Given the description of an element on the screen output the (x, y) to click on. 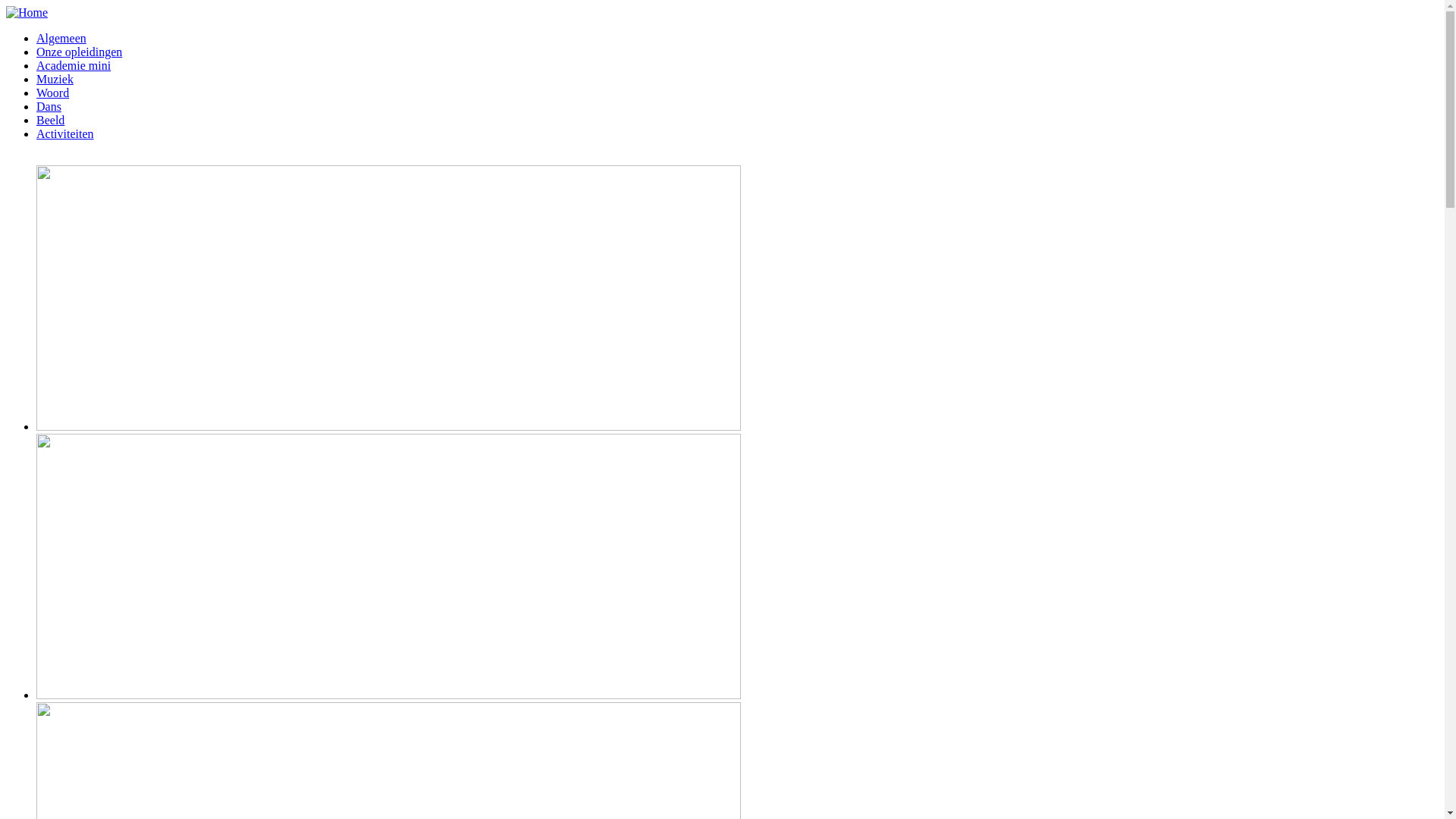
Dans Element type: text (48, 106)
Overslaan en naar de algemene inhoud gaan Element type: text (113, 6)
Muziek Element type: text (54, 78)
Home Element type: hover (26, 12)
Beeld Element type: text (50, 119)
Onze opleidingen Element type: text (79, 51)
Algemeen Element type: text (61, 37)
Woord Element type: text (52, 92)
Activiteiten Element type: text (65, 133)
Academie mini Element type: text (73, 65)
